Given the description of an element on the screen output the (x, y) to click on. 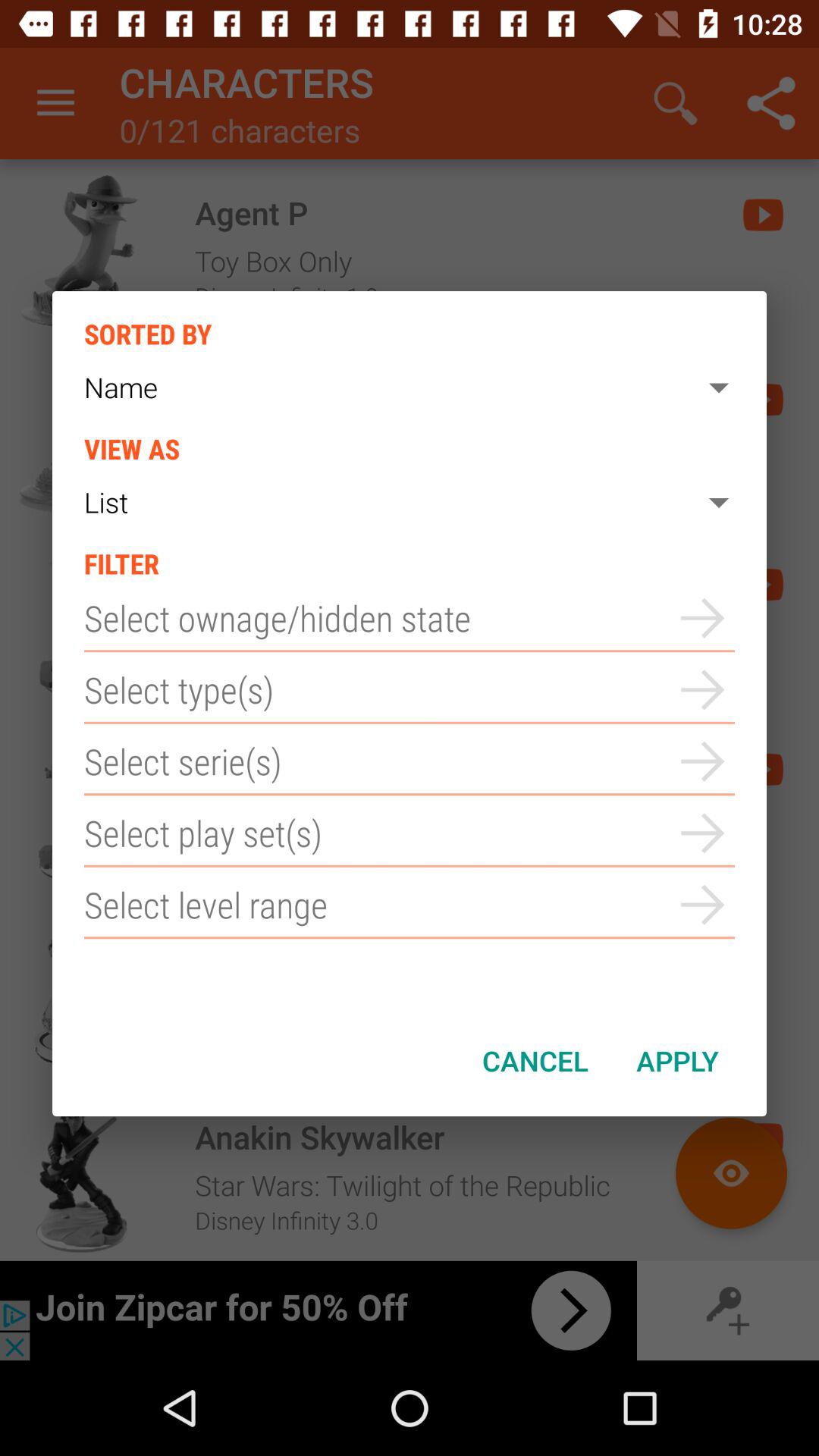
select play set (409, 833)
